Given the description of an element on the screen output the (x, y) to click on. 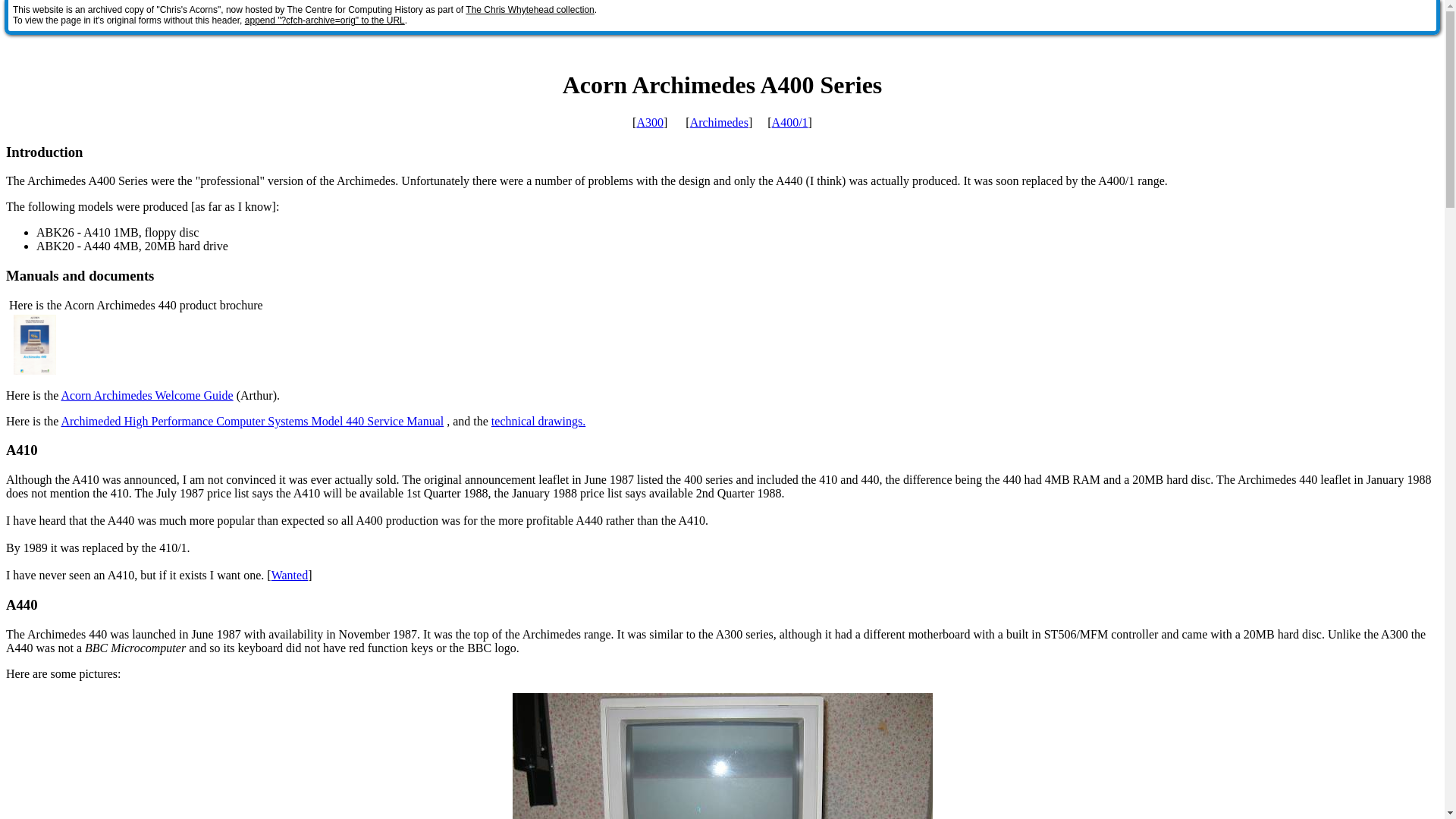
technical drawings. (538, 420)
A300 (649, 122)
Acorn Archimedes Welcome Guide (146, 395)
The Chris Whytehead collection (529, 9)
Wanted (288, 574)
Archimedes (719, 122)
